Given the description of an element on the screen output the (x, y) to click on. 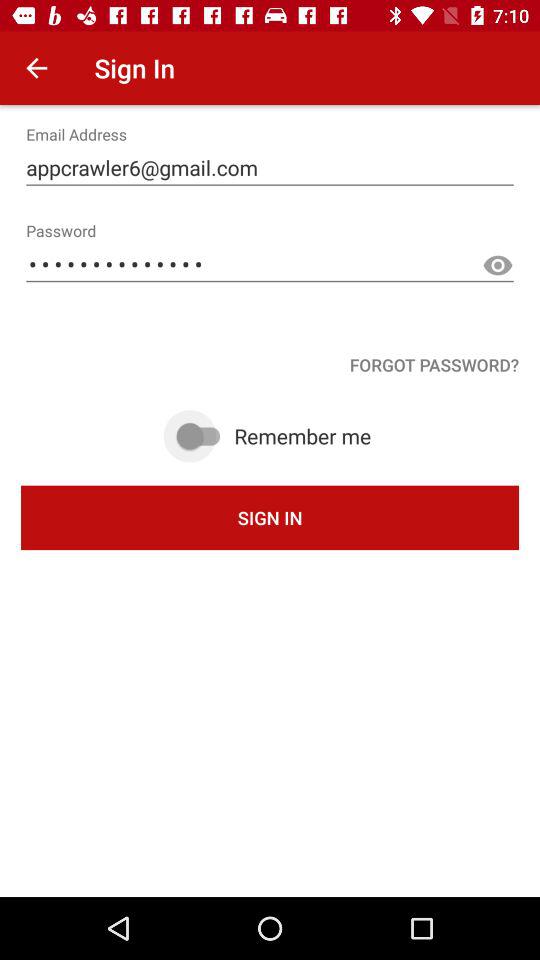
view password (498, 265)
